Given the description of an element on the screen output the (x, y) to click on. 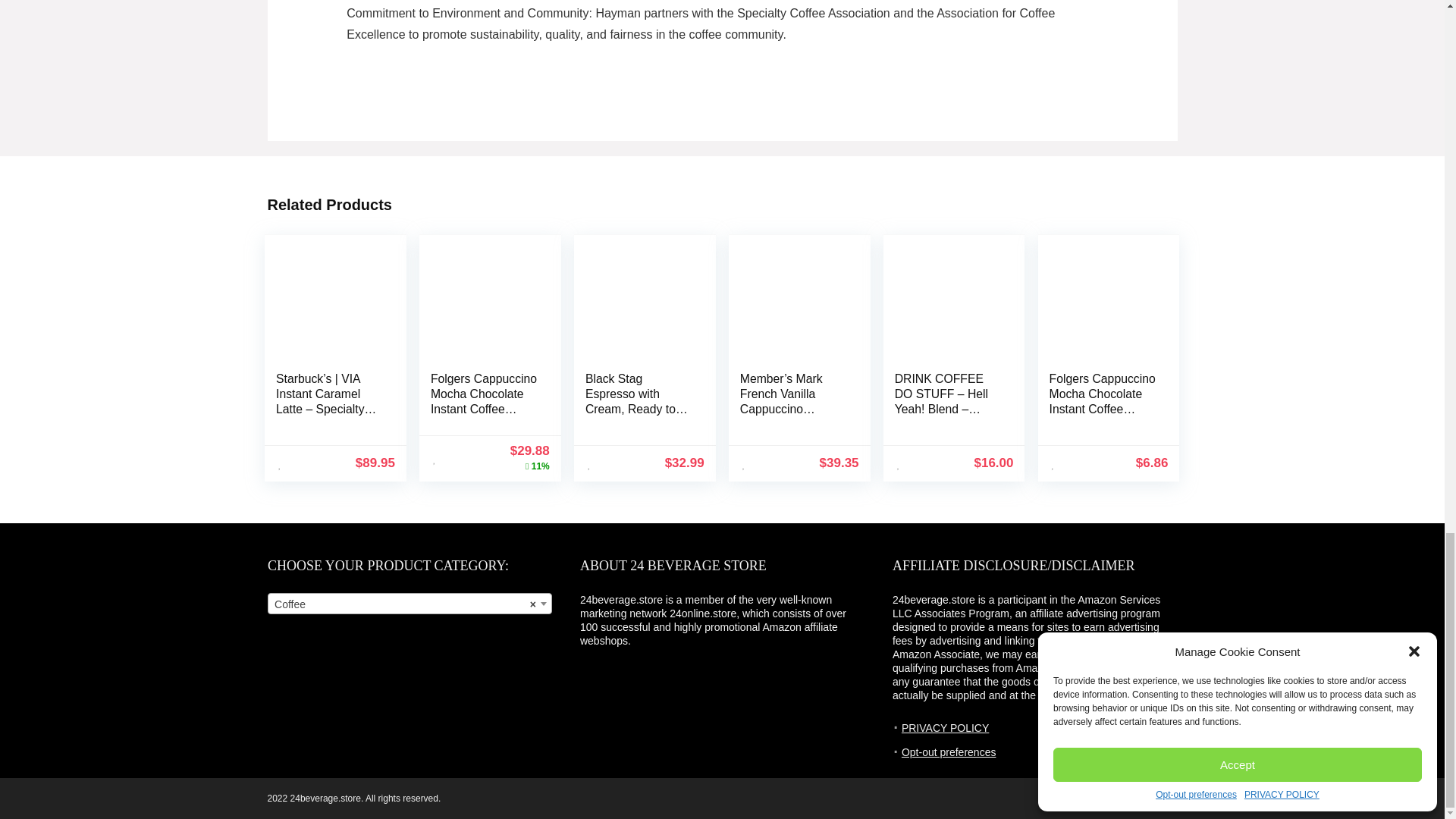
Coffee (409, 604)
